Given the description of an element on the screen output the (x, y) to click on. 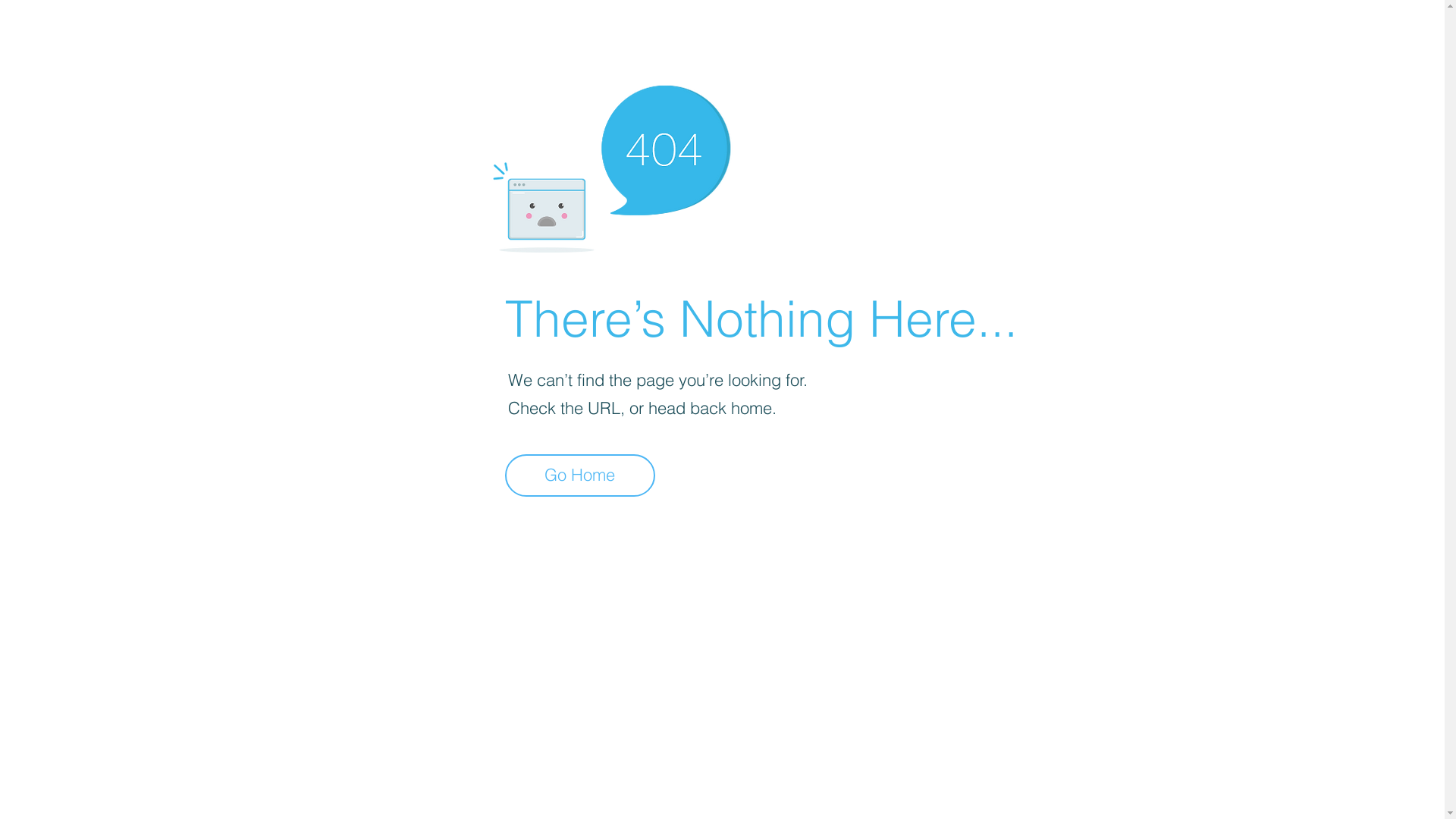
404-icon_2.png Element type: hover (610, 164)
Go Home Element type: text (580, 475)
